Given the description of an element on the screen output the (x, y) to click on. 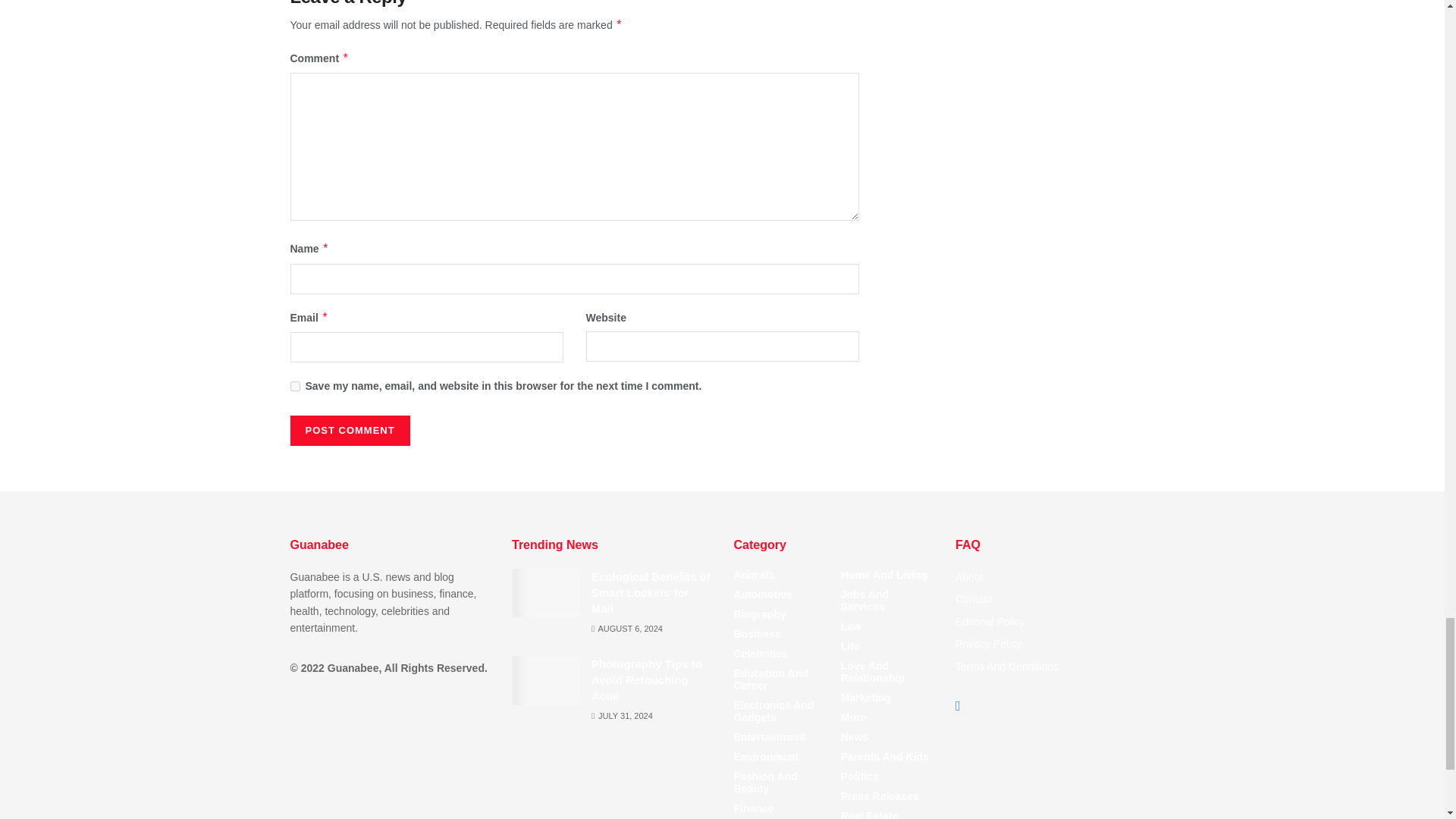
Post Comment (349, 430)
Post Comment (349, 430)
yes (294, 386)
